Given the description of an element on the screen output the (x, y) to click on. 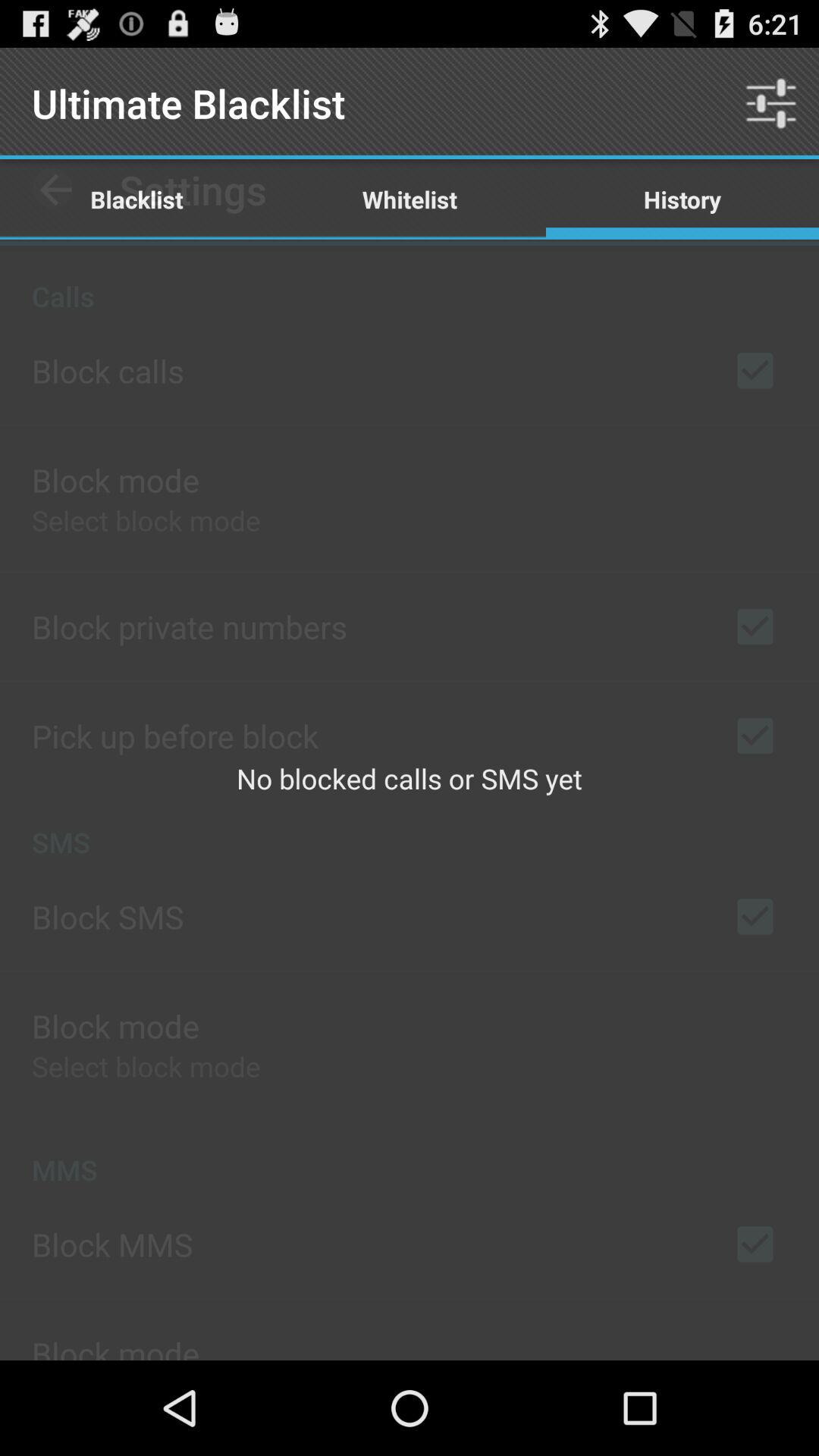
flip to history (682, 199)
